Given the description of an element on the screen output the (x, y) to click on. 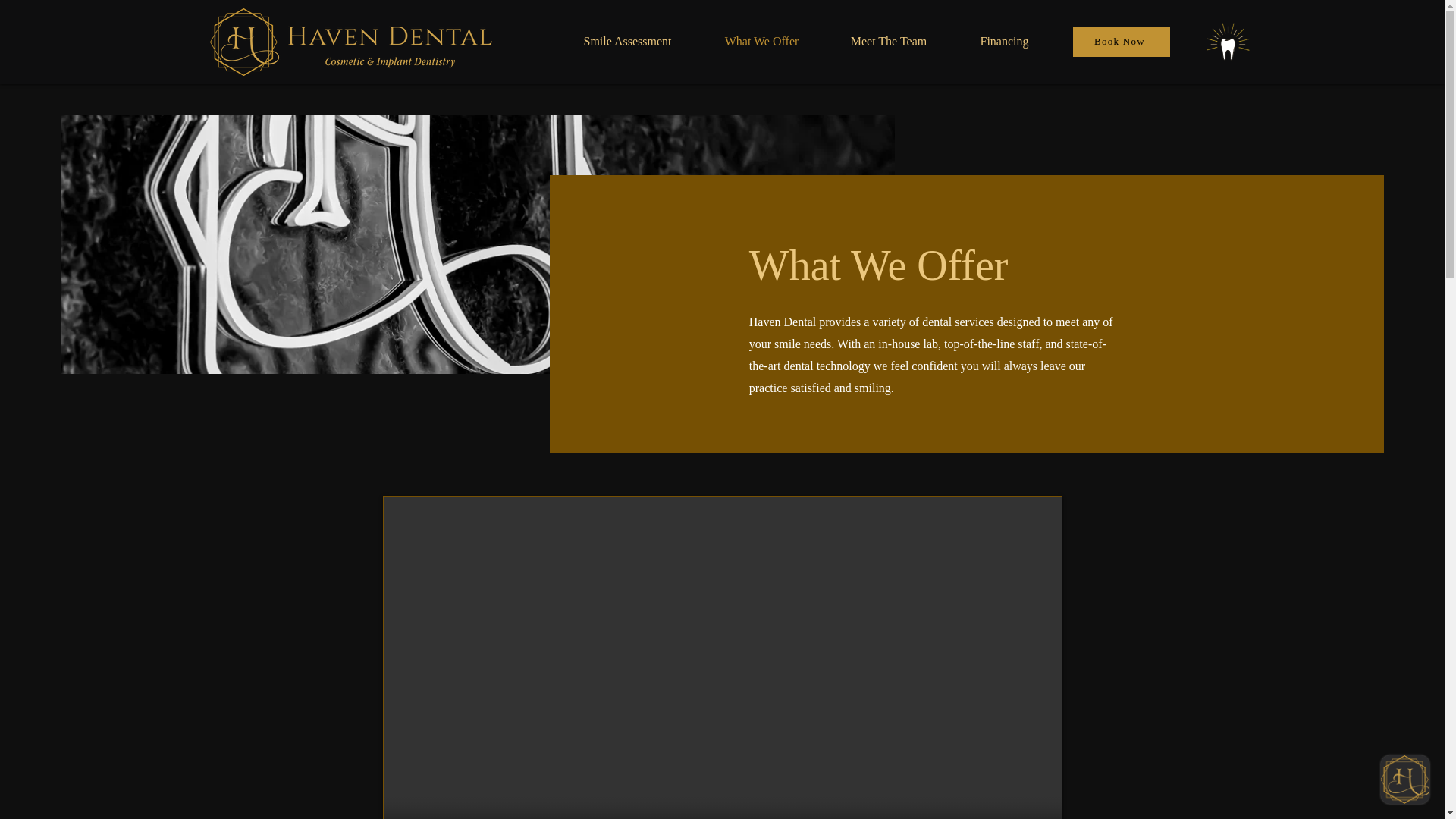
Meet The Team (888, 41)
Financing (1004, 41)
What We Offer (761, 41)
Book Now (1120, 41)
Smile Assessment (626, 41)
